Given the description of an element on the screen output the (x, y) to click on. 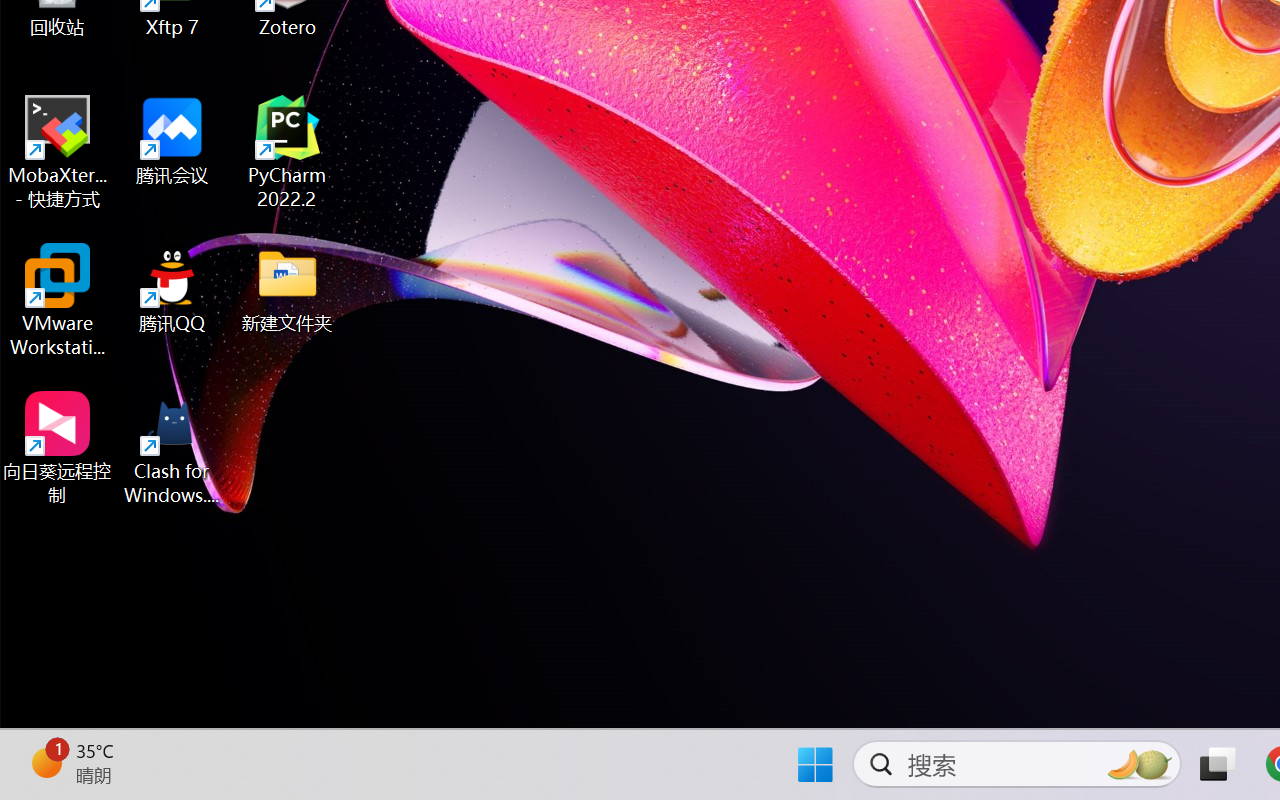
PyCharm 2022.2 (287, 152)
VMware Workstation Pro (57, 300)
